Given the description of an element on the screen output the (x, y) to click on. 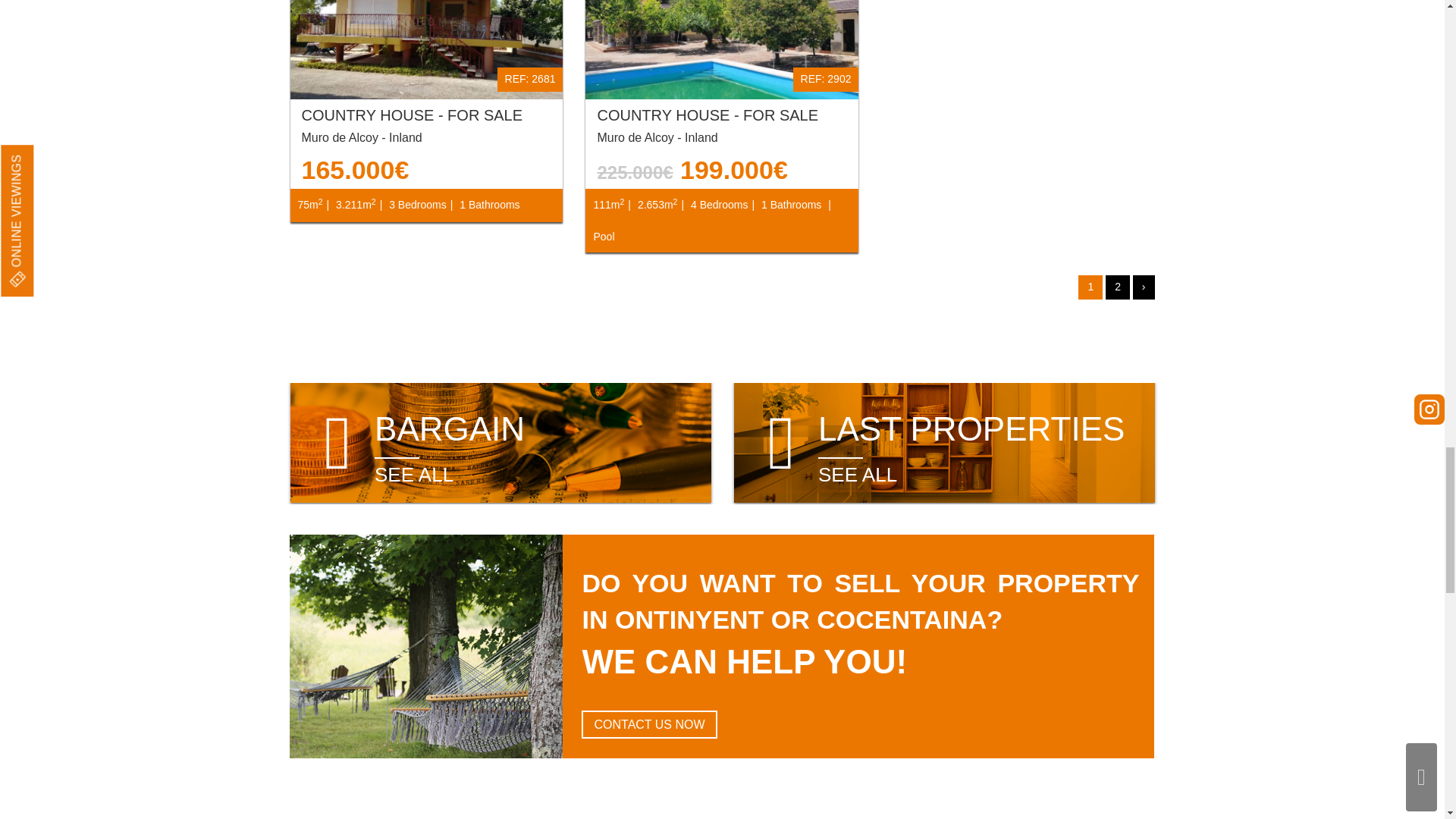
Country House - For sale - Muro de Alcoy - Muro de Alcoy (722, 49)
Country House - For sale - Muro de Alcoy - Muro de Alcoy (425, 49)
